Given the description of an element on the screen output the (x, y) to click on. 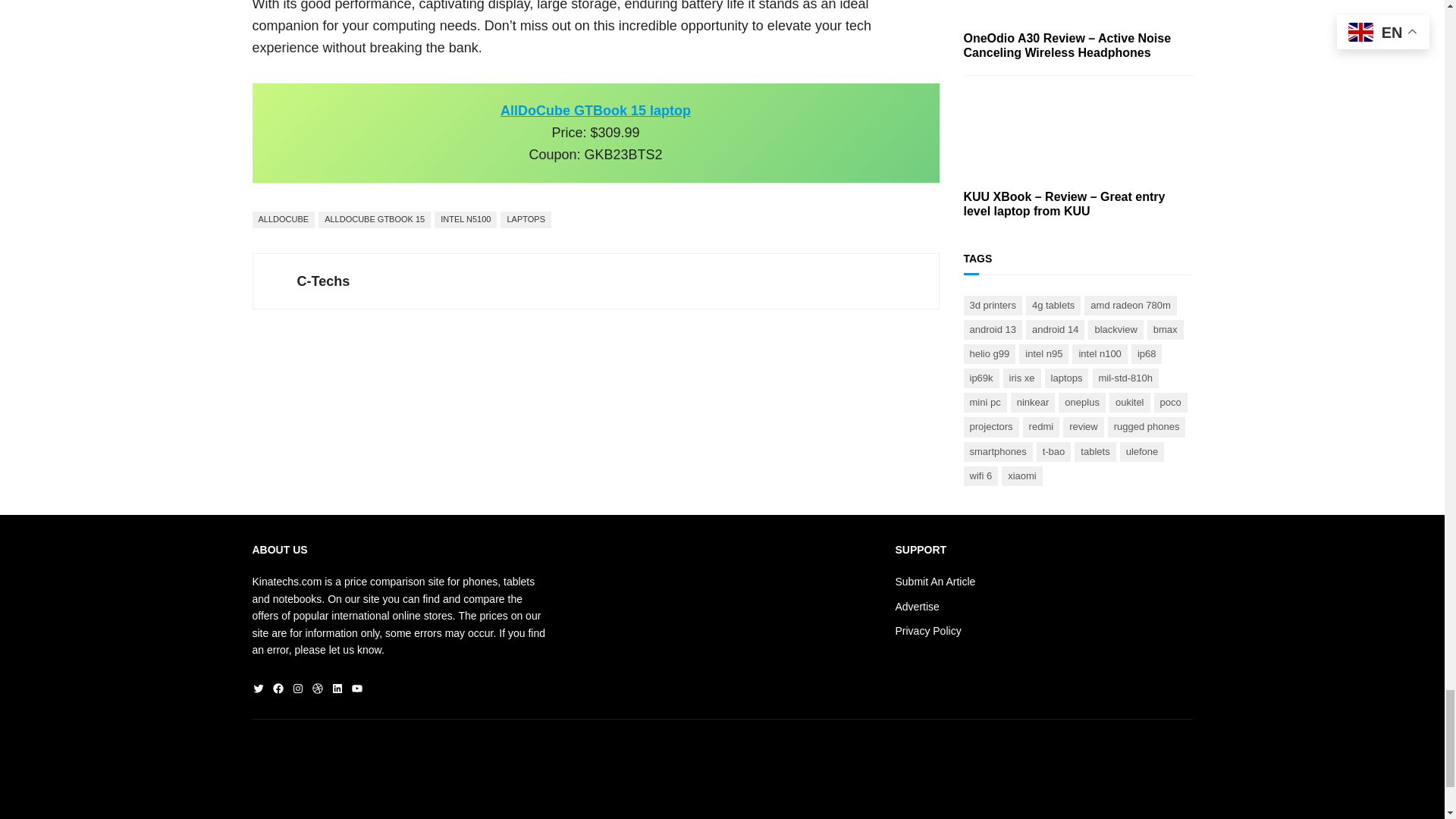
INTEL N5100 (464, 219)
ALLDOCUBE GTBOOK 15 (374, 219)
AllDoCube GTBook 15 laptop (595, 110)
ALLDOCUBE (282, 219)
LAPTOPS (525, 219)
